Given the description of an element on the screen output the (x, y) to click on. 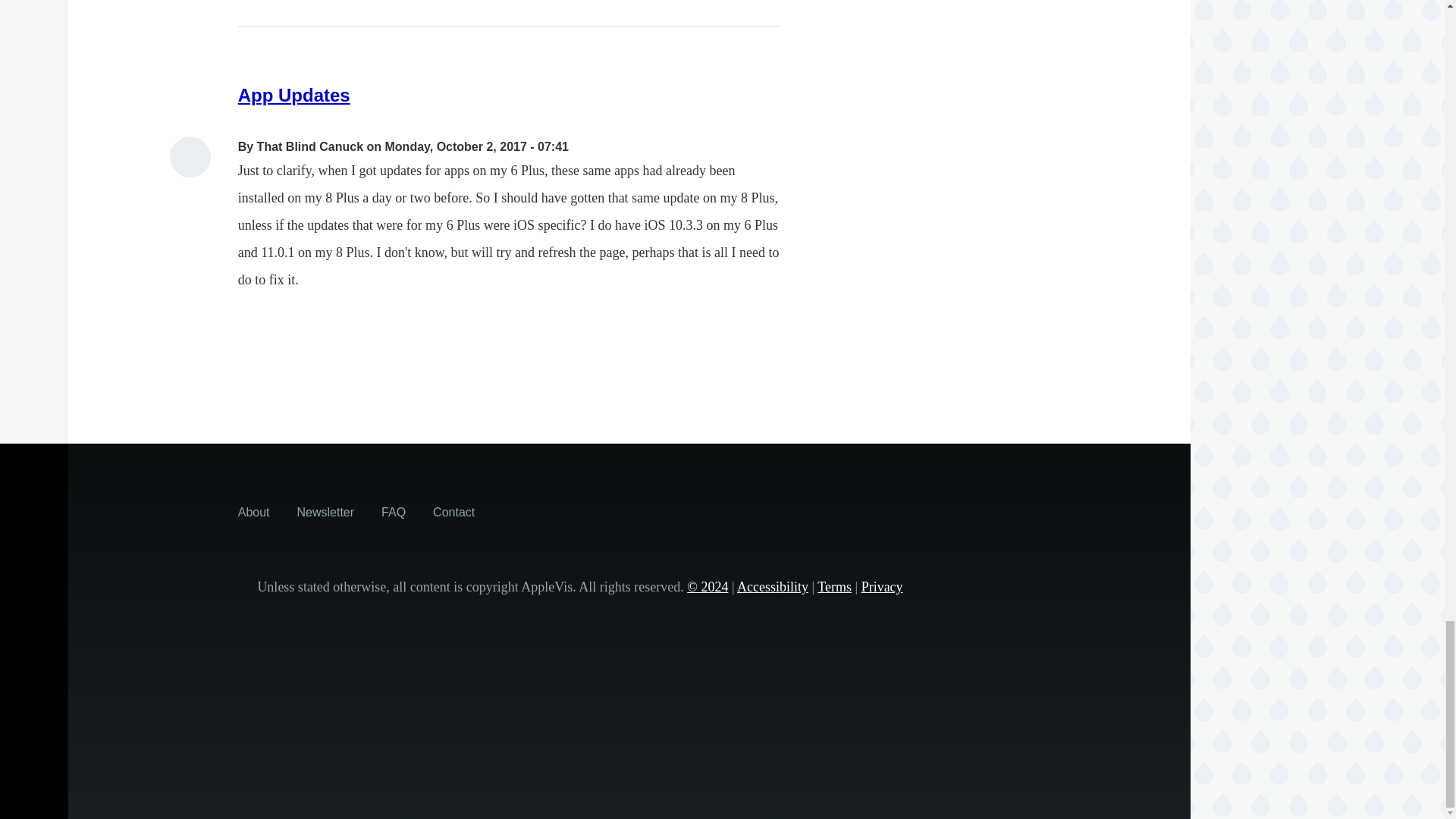
FAQ (393, 511)
Answers to some frequently asked questions about AppleVis (393, 511)
About (253, 511)
Accessibility (772, 586)
App Updates (294, 95)
Newsletter (326, 511)
Terms (833, 586)
Contact (453, 511)
Newsletters (326, 511)
About (253, 511)
